Given the description of an element on the screen output the (x, y) to click on. 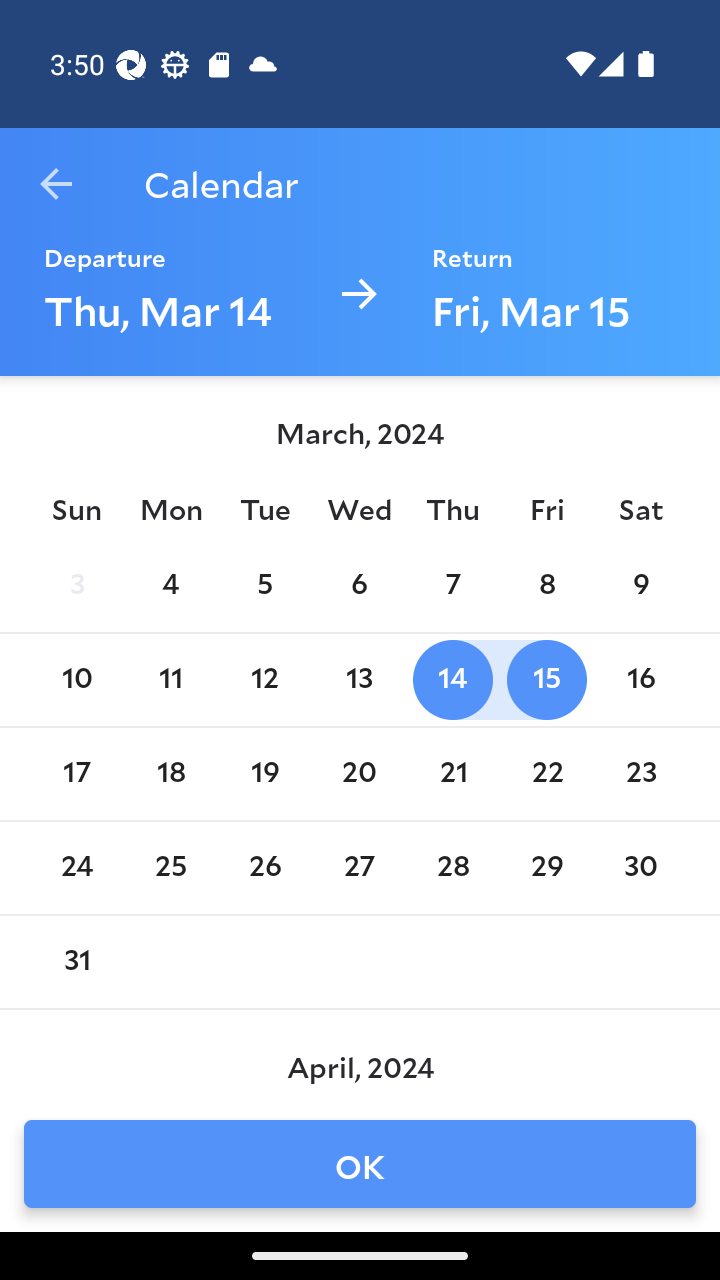
Navigate up (56, 184)
3 (76, 585)
4 (170, 585)
5 (264, 585)
6 (358, 585)
7 (453, 585)
8 (546, 585)
9 (641, 585)
10 (76, 679)
11 (170, 679)
12 (264, 679)
13 (358, 679)
14 (453, 679)
15 (546, 679)
16 (641, 679)
17 (76, 773)
18 (170, 773)
19 (264, 773)
20 (358, 773)
21 (453, 773)
22 (546, 773)
23 (641, 773)
24 (76, 867)
25 (170, 867)
26 (264, 867)
27 (358, 867)
28 (453, 867)
29 (546, 867)
30 (641, 867)
31 (76, 961)
OK (359, 1164)
